Given the description of an element on the screen output the (x, y) to click on. 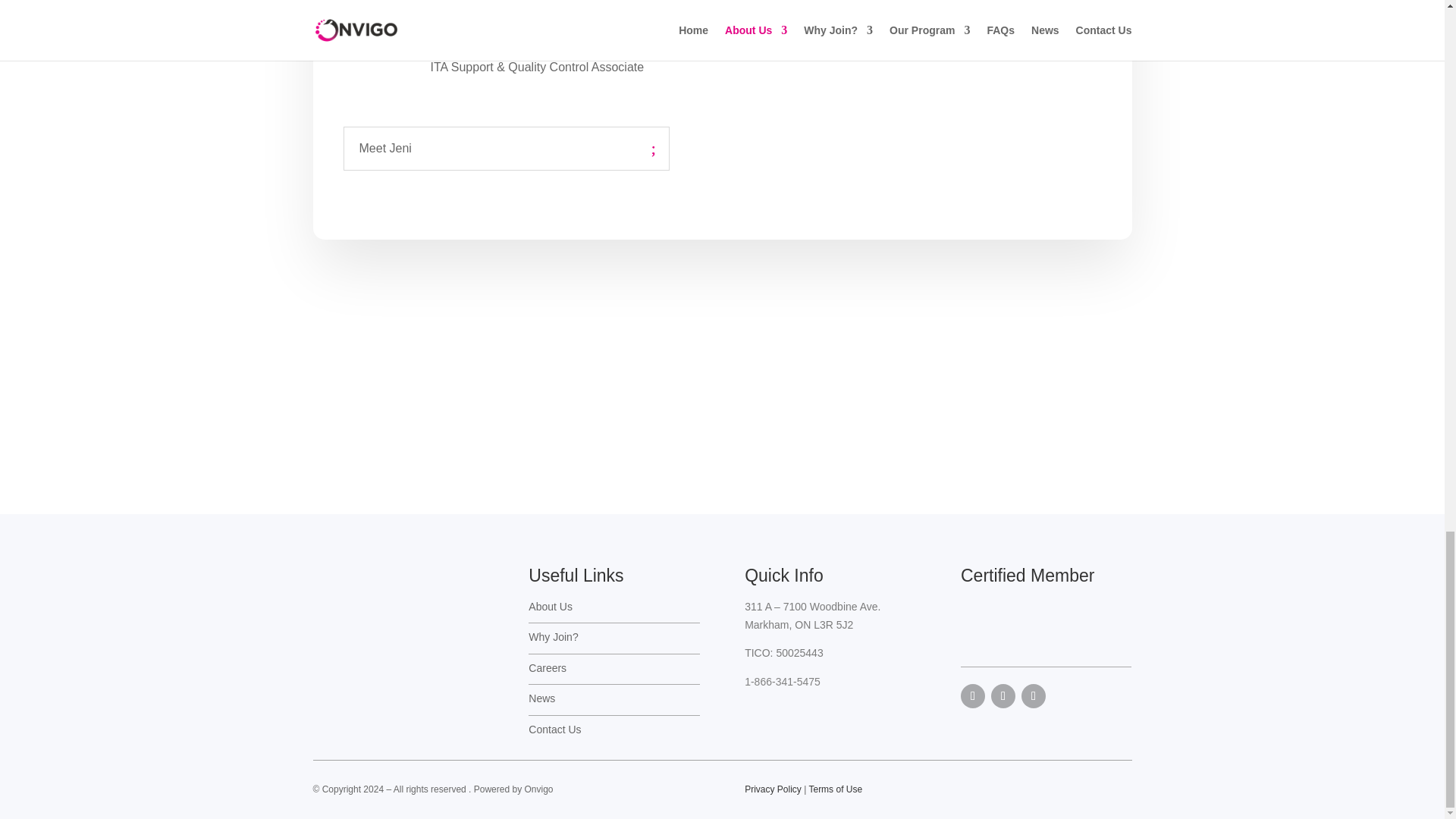
Follow on Instagram (1033, 695)
Certifed-Logos-V2 (1045, 627)
Onvigo-Logo-250-x-100 (398, 585)
Follow on Facebook (972, 695)
Follow on LinkedIn (1002, 695)
